Given the description of an element on the screen output the (x, y) to click on. 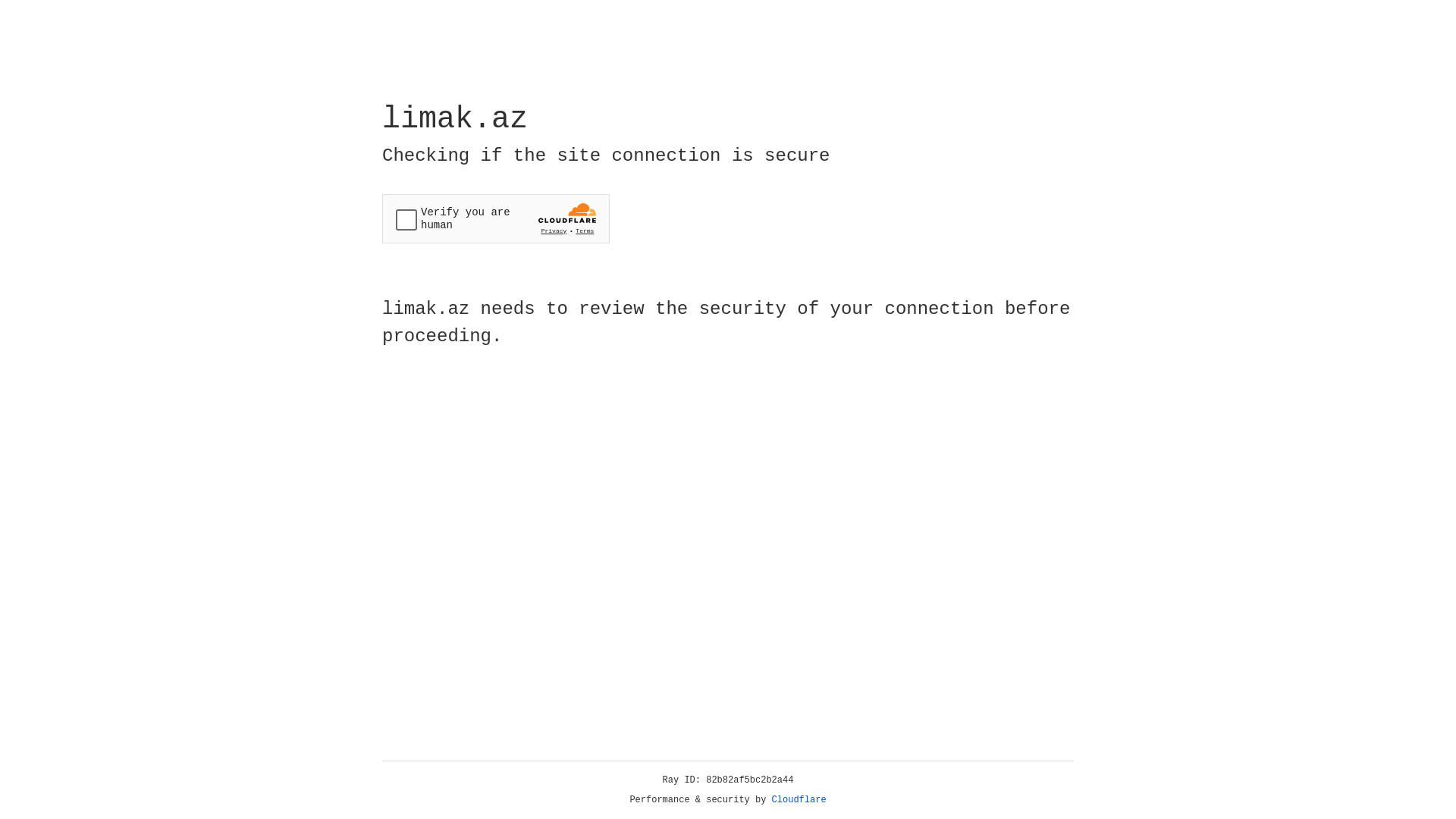
Widget containing a Cloudflare security challenge Element type: hover (495, 218)
Cloudflare Element type: text (798, 799)
